Given the description of an element on the screen output the (x, y) to click on. 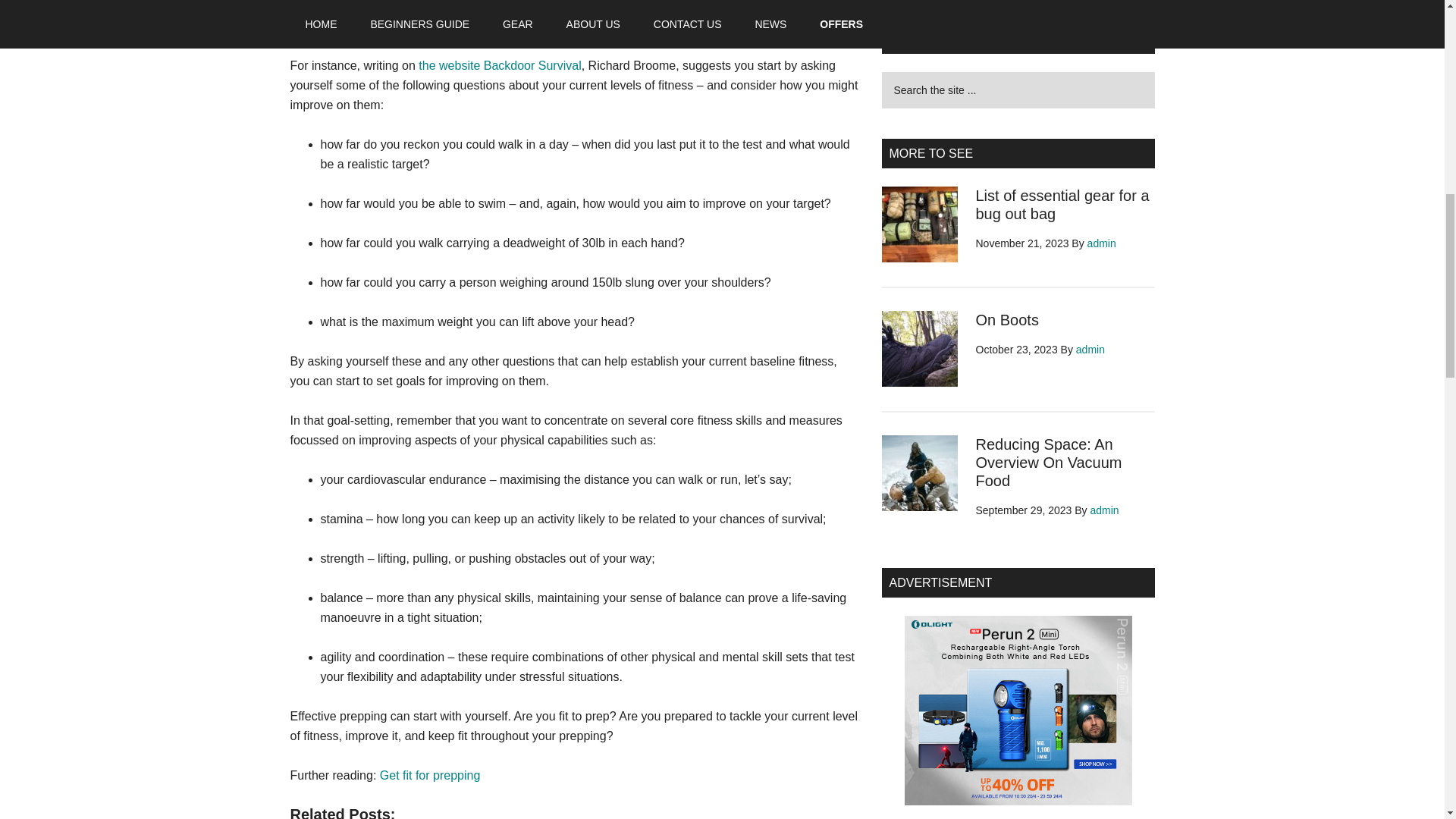
List of essential gear for a bug out bag (1061, 204)
admin (1101, 243)
admin (1090, 349)
Get fit for prepping (430, 775)
On Boots (1006, 320)
Reducing Space: An Overview On Vacuum Food (1048, 461)
the website Backdoor Survival (499, 65)
admin (1104, 510)
